Given the description of an element on the screen output the (x, y) to click on. 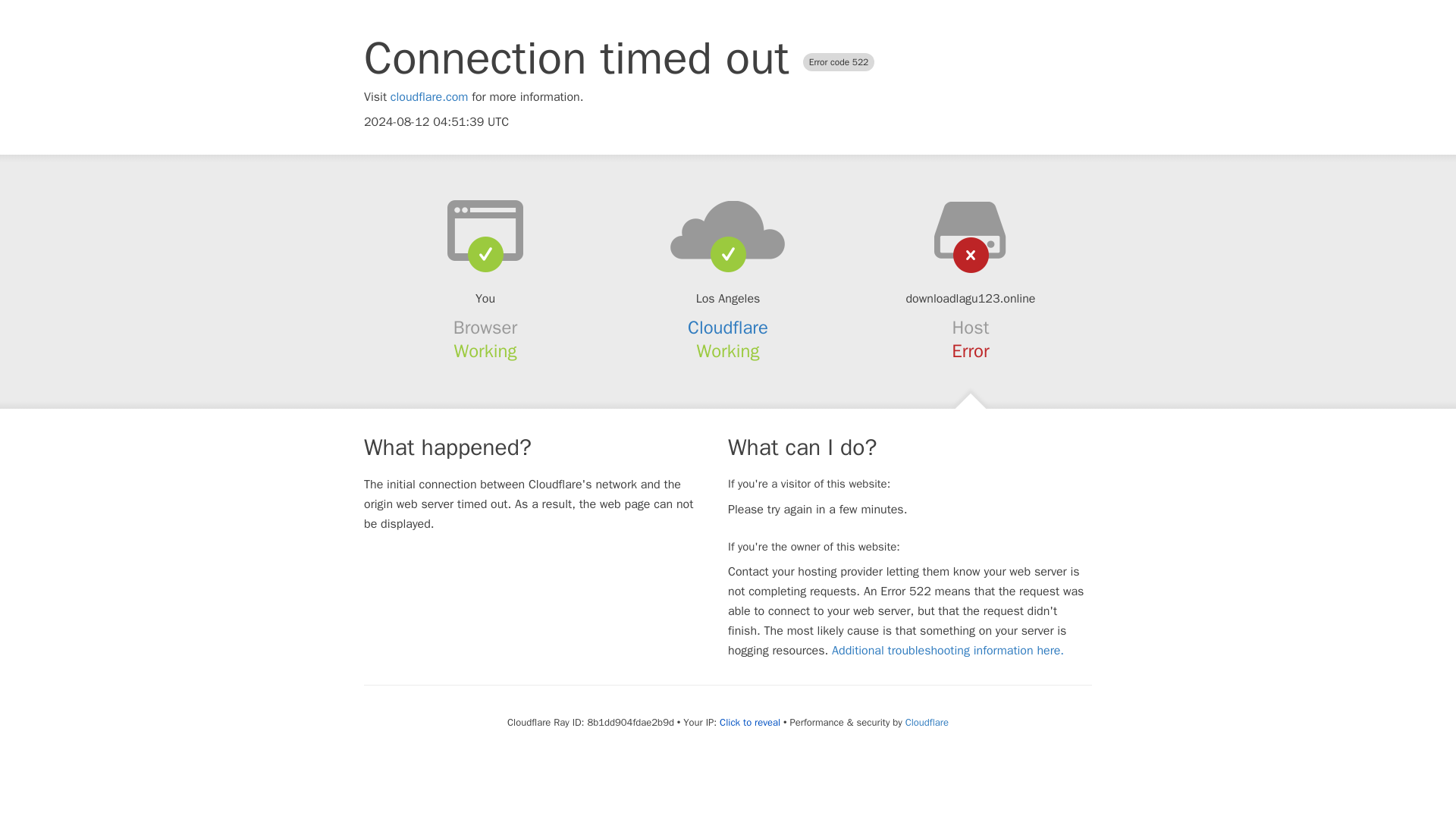
Cloudflare (927, 721)
Click to reveal (749, 722)
Cloudflare (727, 327)
Additional troubleshooting information here. (947, 650)
cloudflare.com (429, 96)
